Given the description of an element on the screen output the (x, y) to click on. 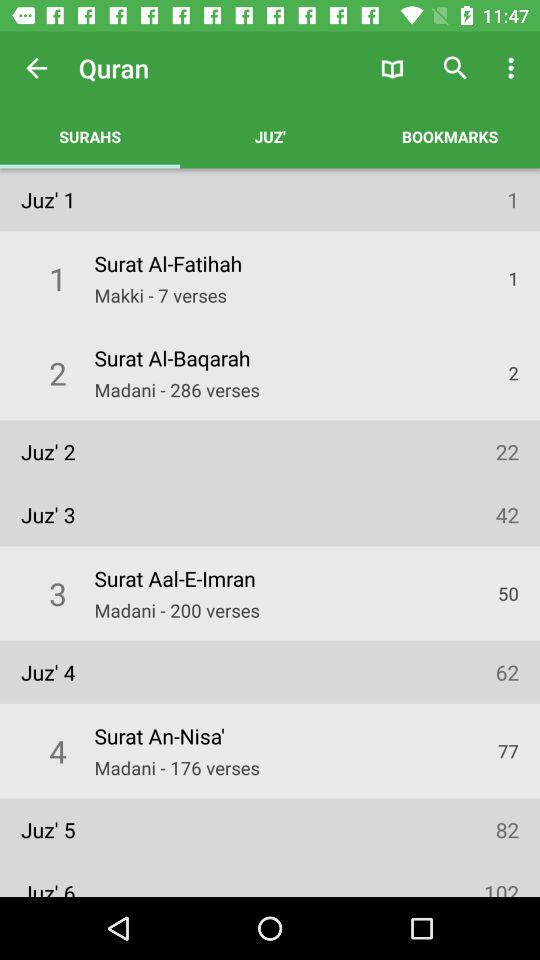
choose the bookmarks app (450, 136)
